Given the description of an element on the screen output the (x, y) to click on. 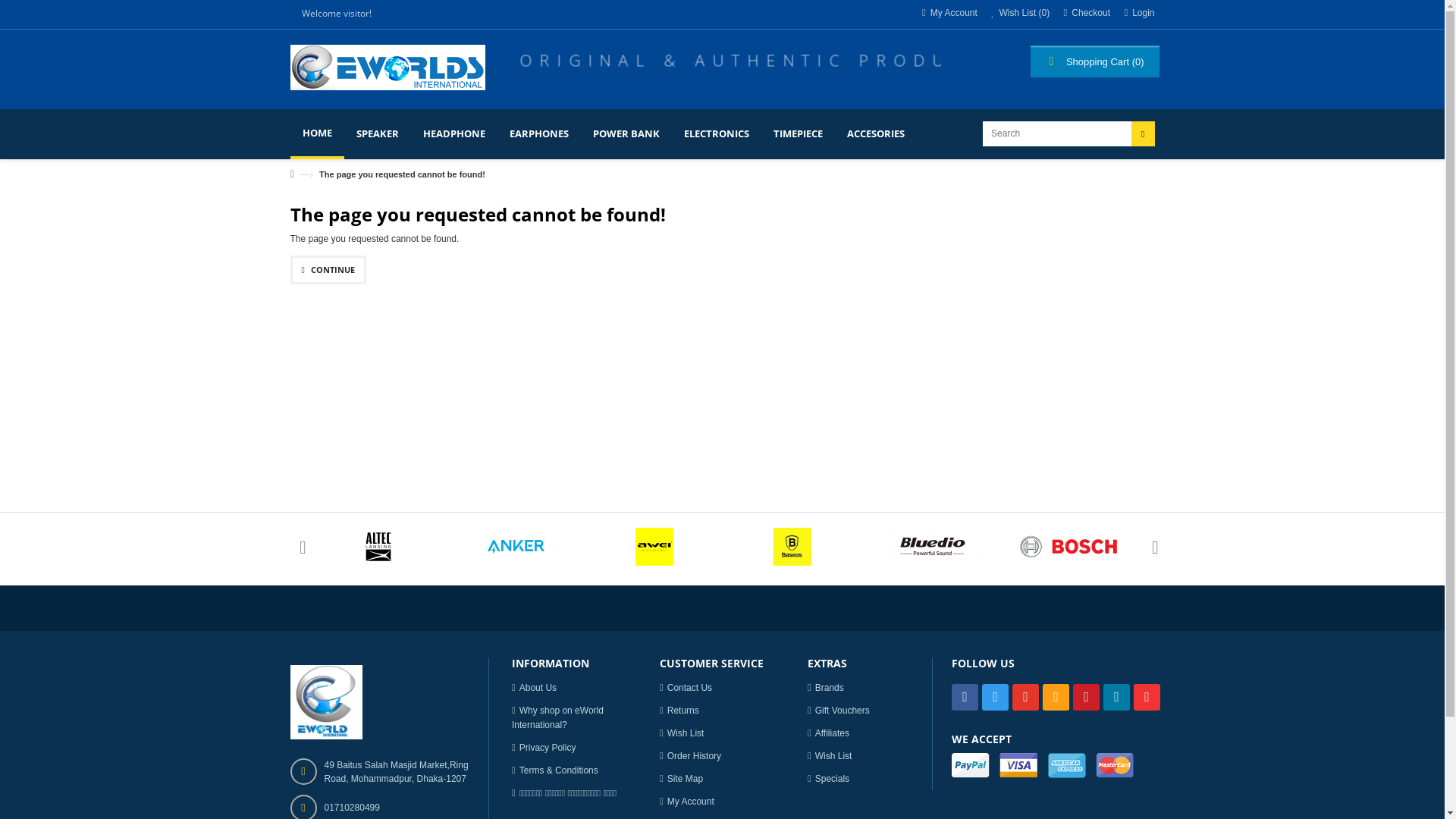
ACCESORIES Element type: text (875, 133)
Brands Element type: text (825, 687)
CONTINUE Element type: text (327, 270)
CONTINUE Element type: text (327, 269)
Wish List (0) Element type: text (1014, 12)
Order History Element type: text (690, 755)
HEADPHONE Element type: text (454, 133)
TIMEPIECE Element type: text (797, 133)
Contact Us Element type: text (685, 687)
Shopping Cart (0) Element type: text (1093, 61)
Wish List Element type: text (681, 733)
Checkout Element type: text (1081, 12)
Specials Element type: text (828, 778)
HOME Element type: text (316, 134)
Privacy Policy Element type: text (543, 747)
Wish List Element type: text (829, 755)
EARPHONES Element type: text (538, 133)
ELECTRONICS Element type: text (716, 133)
eWorld International Element type: hover (386, 67)
Terms & Conditions Element type: text (554, 770)
Login Element type: text (1133, 12)
Affiliates Element type: text (828, 733)
My Account Element type: text (686, 801)
eWorld International Element type: hover (386, 76)
My Account Element type: text (943, 12)
Why shop on eWorld International? Element type: text (557, 717)
Returns Element type: text (679, 710)
POWER BANK Element type: text (625, 133)
SPEAKER Element type: text (377, 133)
Gift Vouchers Element type: text (838, 710)
Site Map Element type: text (680, 778)
About Us Element type: text (533, 687)
